Given the description of an element on the screen output the (x, y) to click on. 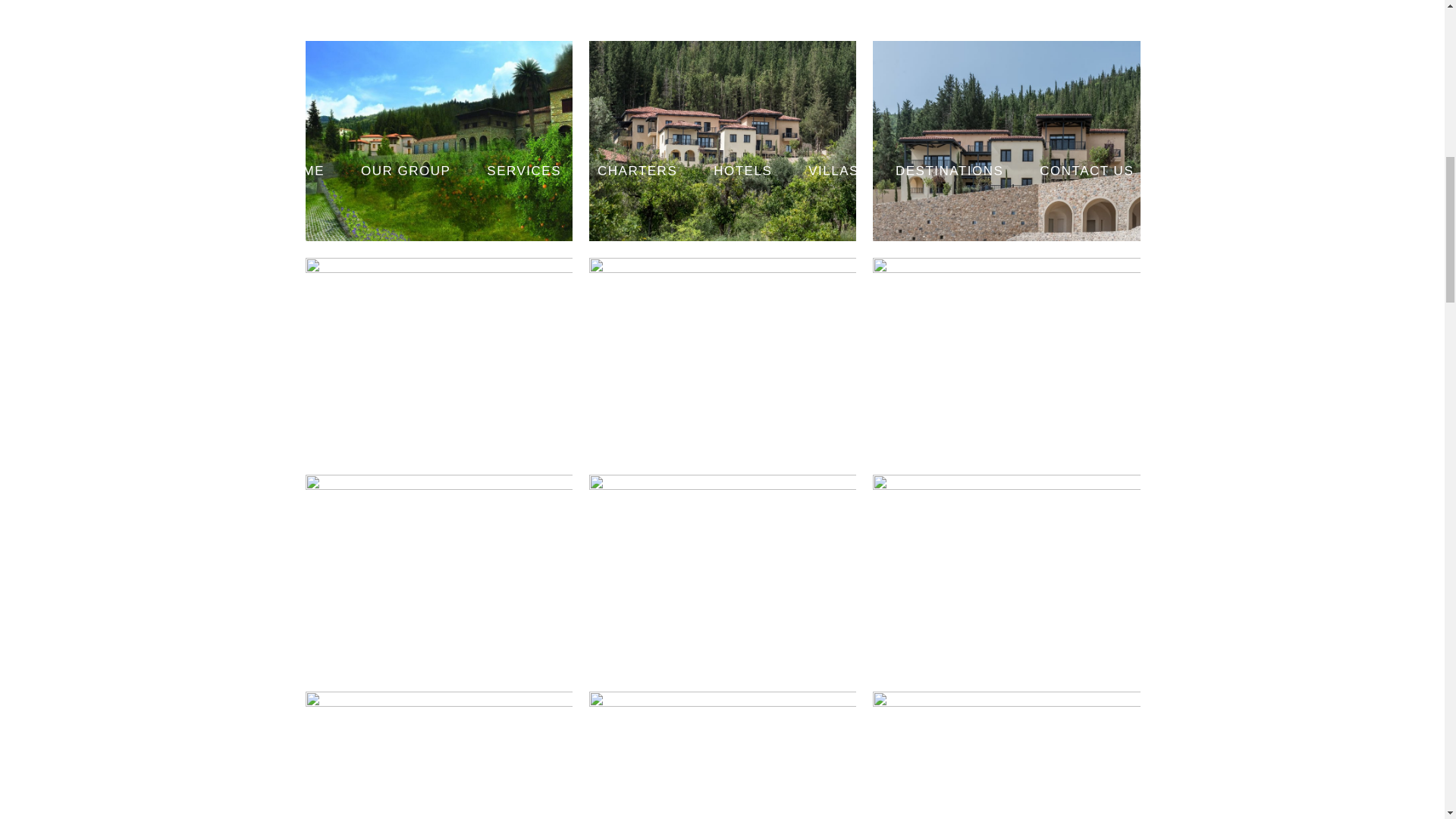
Mystras Suite-97 (1006, 357)
High-Res-4 (723, 140)
High-Res-64 (1006, 755)
High-Res-5 (723, 357)
High-Res-55 (723, 755)
High-Res-37 (1006, 575)
High-Res-36 (723, 575)
High-Res-47 (438, 575)
High-Res-39 (438, 357)
High-Res-60 (438, 755)
